Given the description of an element on the screen output the (x, y) to click on. 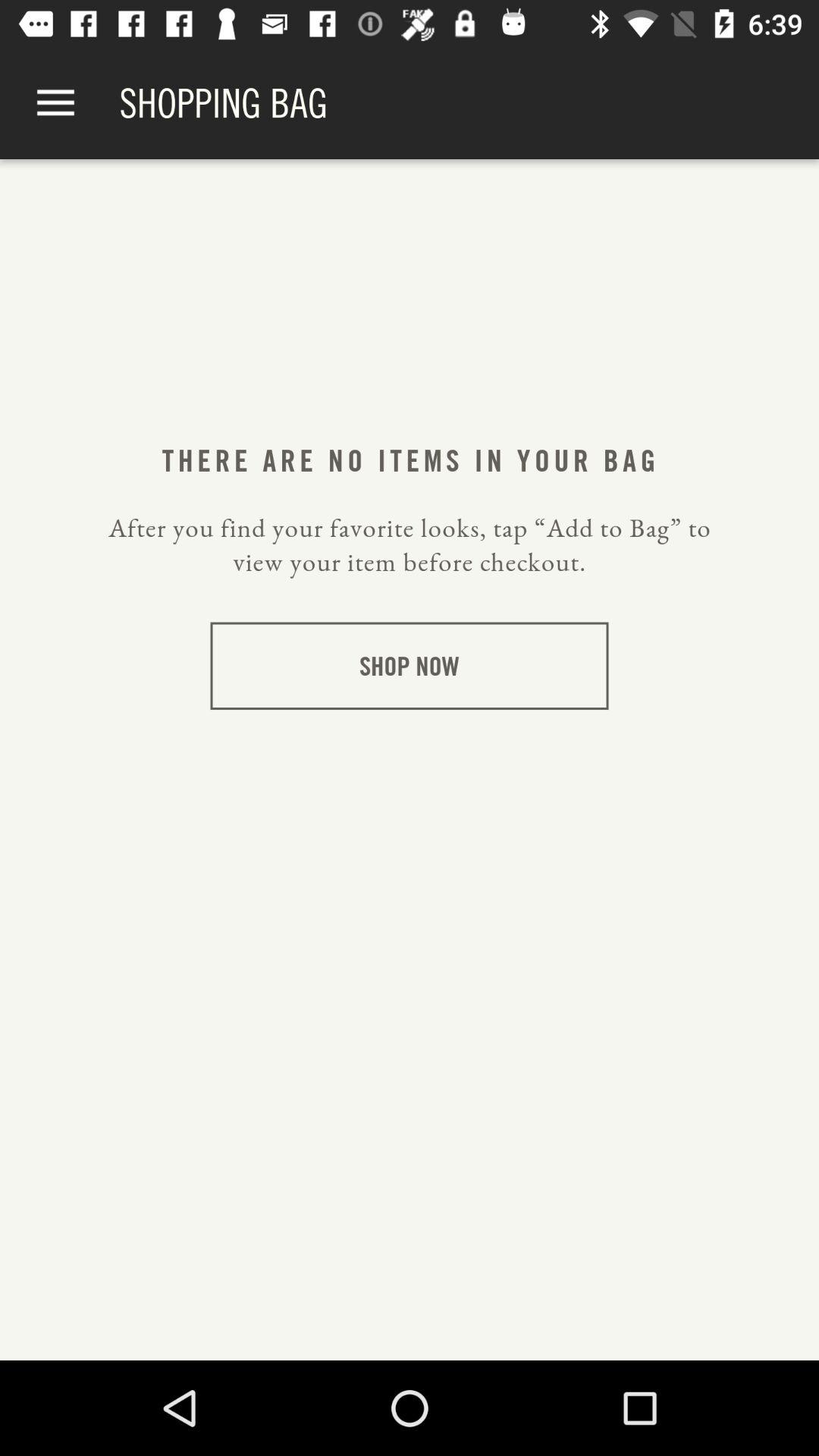
click there are no item (409, 459)
